Given the description of an element on the screen output the (x, y) to click on. 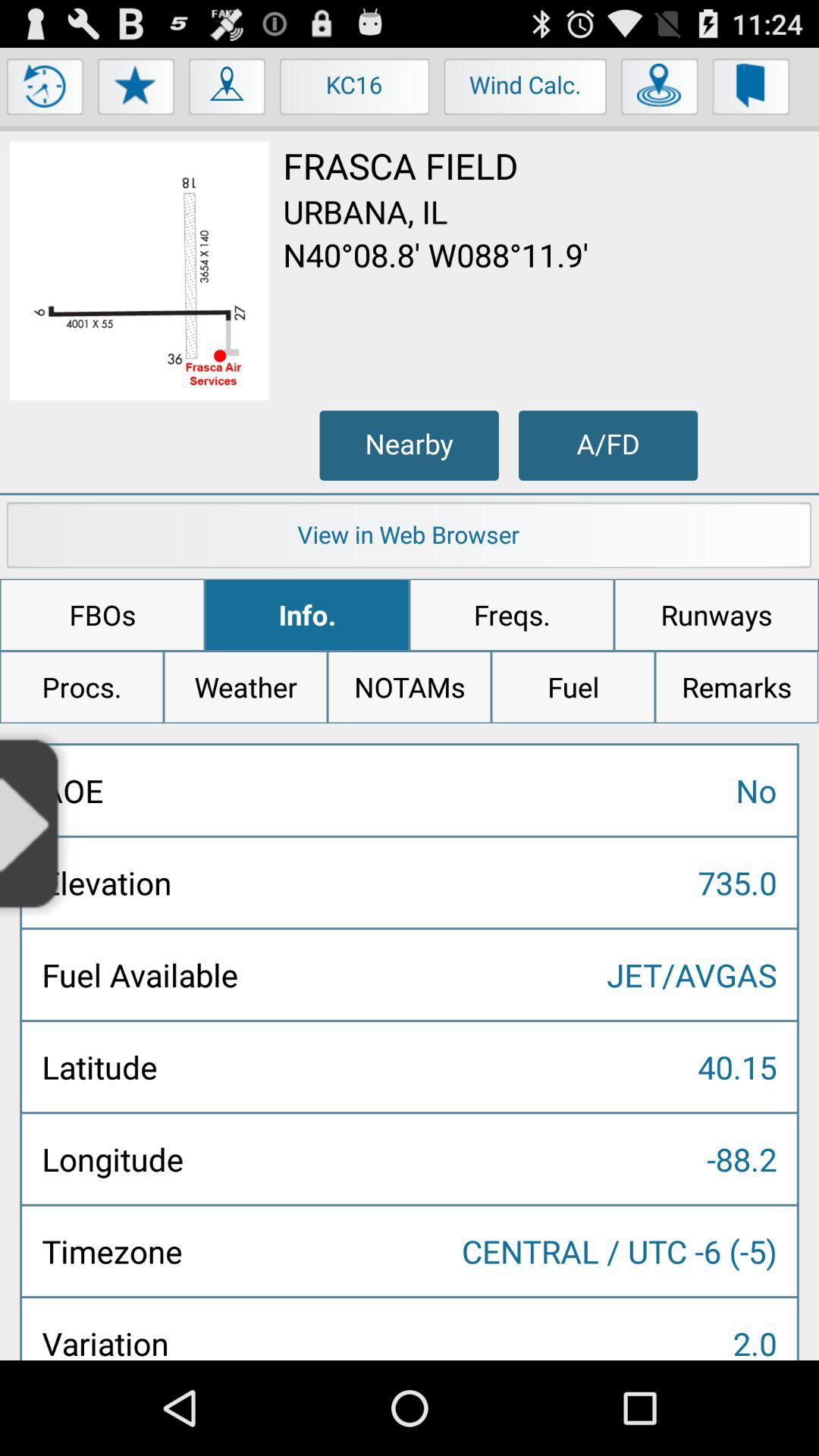
turn off the icon to the left of kc16 item (227, 90)
